Given the description of an element on the screen output the (x, y) to click on. 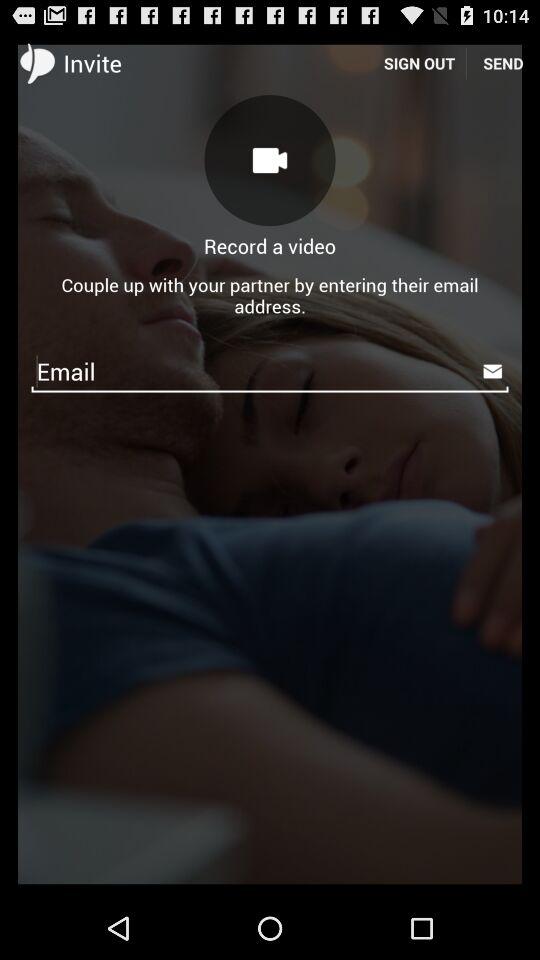
press the icon below couple up with icon (269, 370)
